Given the description of an element on the screen output the (x, y) to click on. 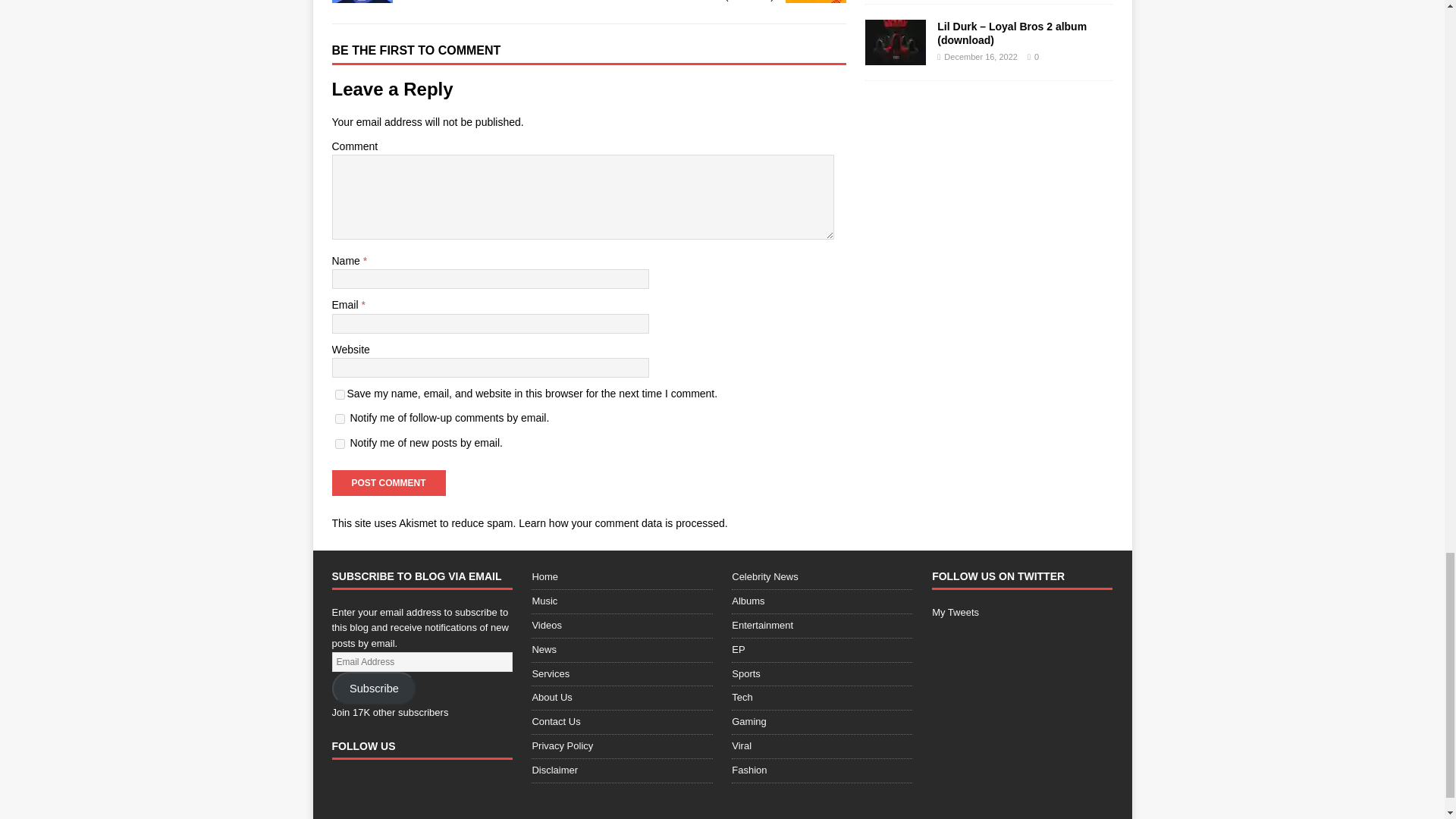
yes (339, 394)
subscribe (339, 443)
Post Comment (388, 483)
subscribe (339, 419)
